Given the description of an element on the screen output the (x, y) to click on. 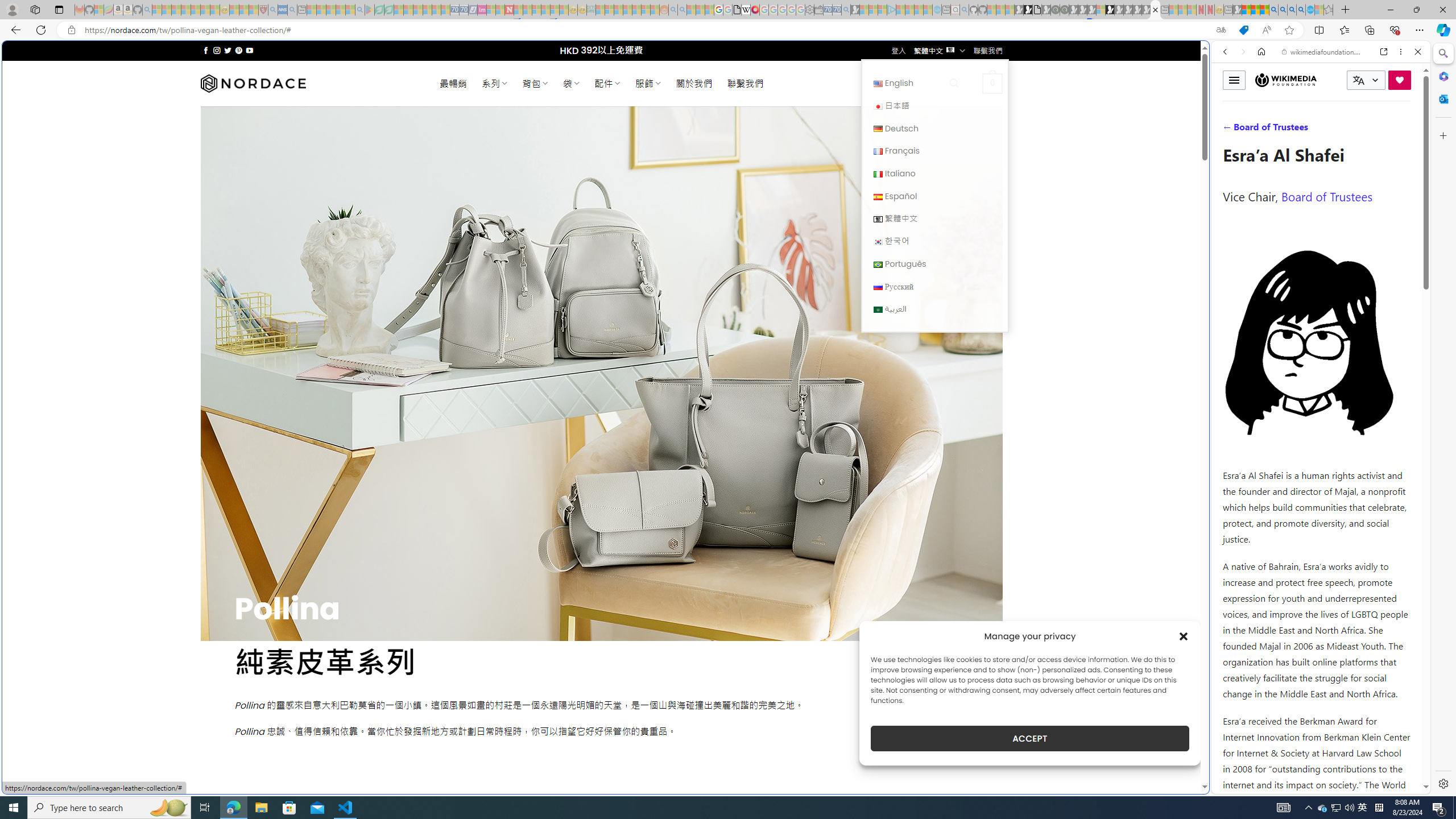
Pets - MSN - Sleeping (340, 9)
